Given the description of an element on the screen output the (x, y) to click on. 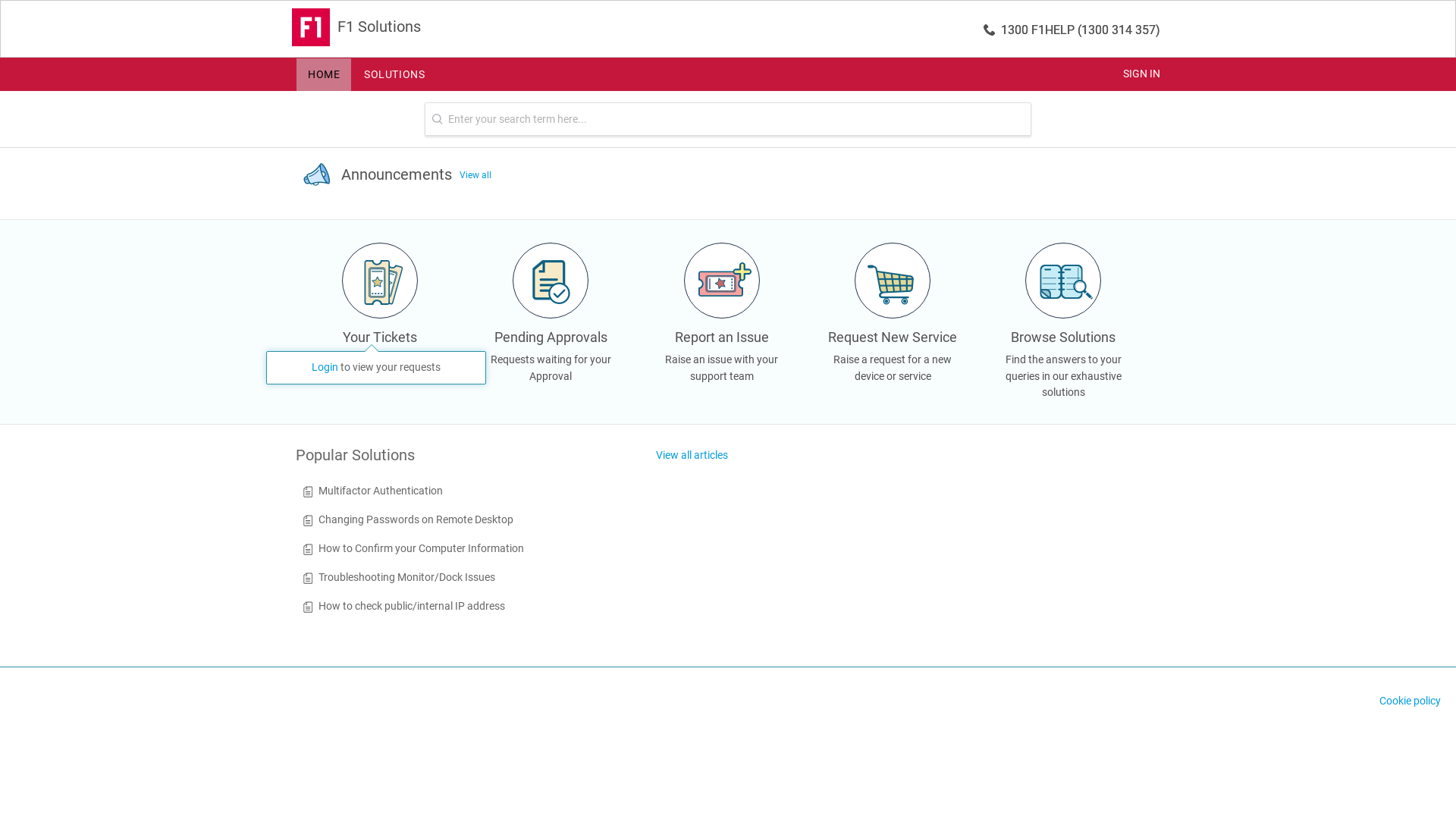
Troubleshooting Monitor/Dock Issues Element type: text (406, 577)
Your Tickets
All your tickets, responses & activities Element type: text (379, 329)
How to Confirm your Computer Information Element type: text (421, 548)
View all articles Element type: text (691, 455)
Multifactor Authentication Element type: text (380, 490)
SIGN IN Element type: text (1141, 73)
Pending Approvals
Requests waiting for your Approval Element type: text (550, 329)
View all Element type: text (475, 175)
HOME Element type: text (323, 74)
How to check public/internal IP address Element type: text (411, 605)
Changing Passwords on Remote Desktop Element type: text (415, 519)
Cookie policy Element type: text (1409, 700)
Report an Issue
Raise an issue with your support team Element type: text (721, 329)
Login Element type: text (324, 366)
SOLUTIONS Element type: text (394, 74)
